Given the description of an element on the screen output the (x, y) to click on. 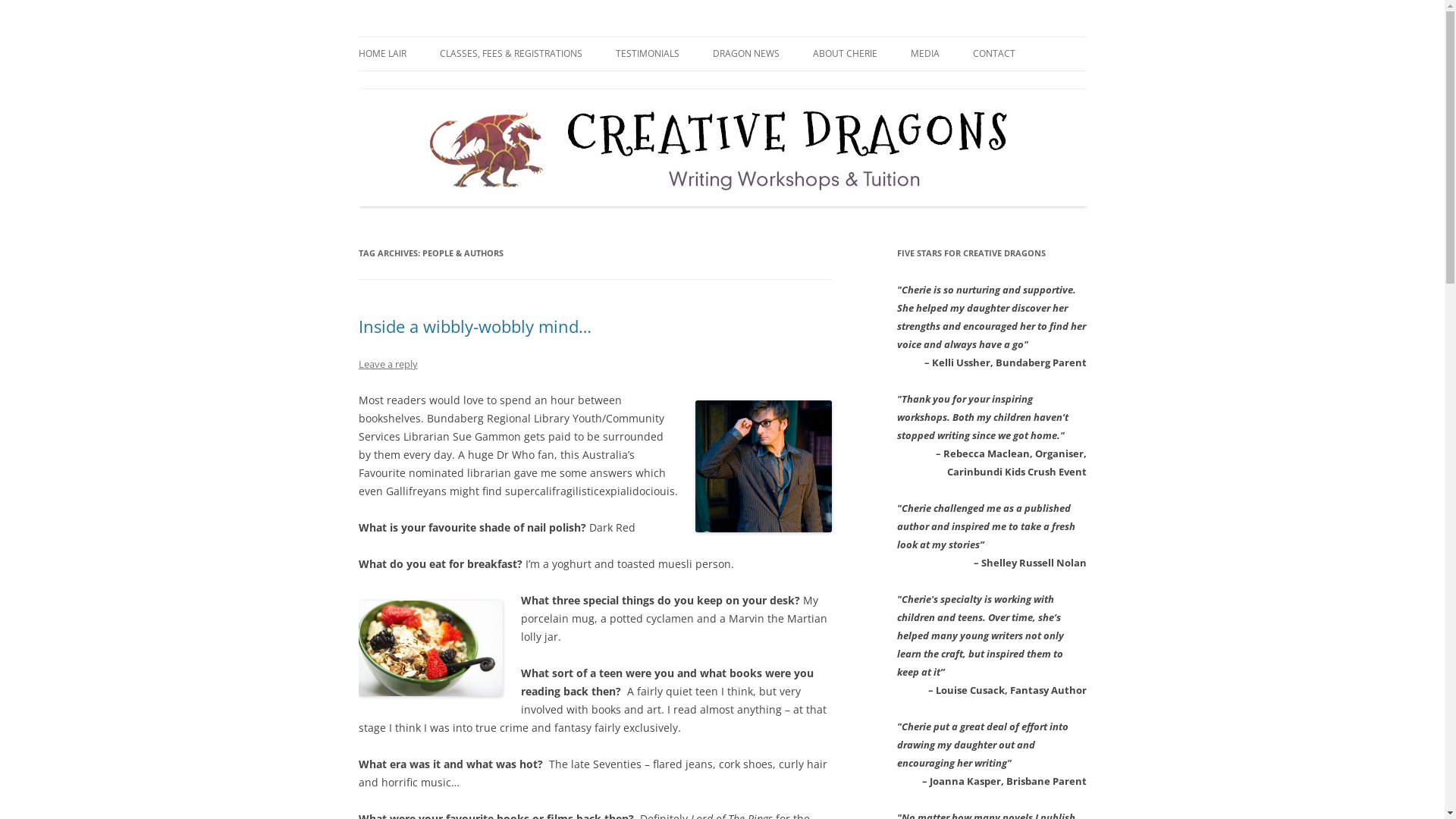
HOME LAIR Element type: text (381, 53)
MEDIA Element type: text (924, 53)
TESTIMONIALS Element type: text (647, 53)
Creative Dragons Element type: text (442, 36)
CREATIVE DRAGONS TAKE OFF Element type: text (985, 85)
Leave a reply Element type: text (387, 363)
DRAGON NEWS Element type: text (745, 53)
CONTACT Element type: text (993, 53)
Skip to content Element type: text (721, 36)
ABOUT CHERIE Element type: text (844, 53)
CLASSES, FEES & REGISTRATIONS Element type: text (510, 53)
